Given the description of an element on the screen output the (x, y) to click on. 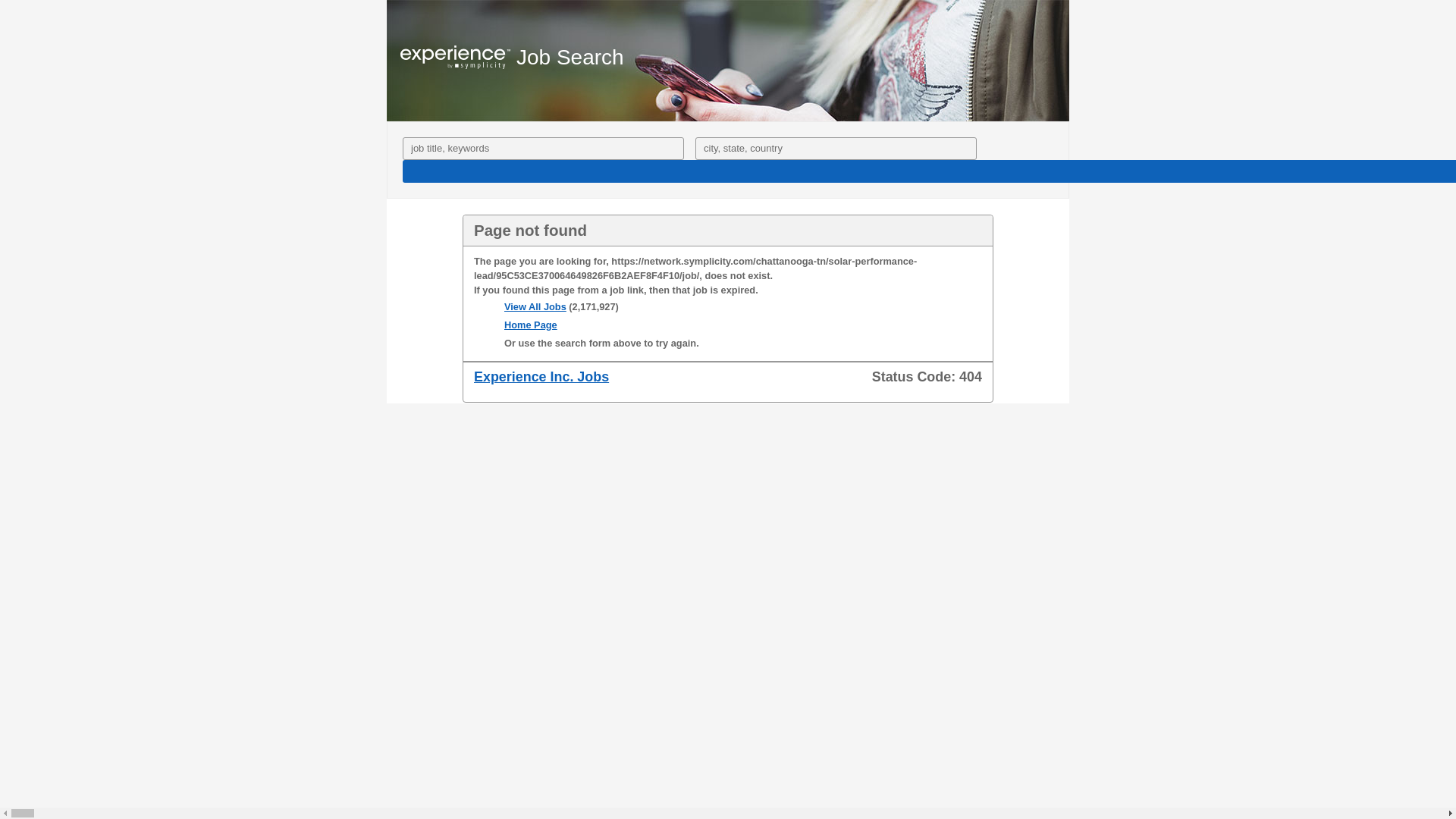
Experience Inc. Jobs (541, 376)
Search Location (835, 148)
Search Phrase (543, 148)
View All Jobs (534, 306)
Home Page (530, 324)
